Given the description of an element on the screen output the (x, y) to click on. 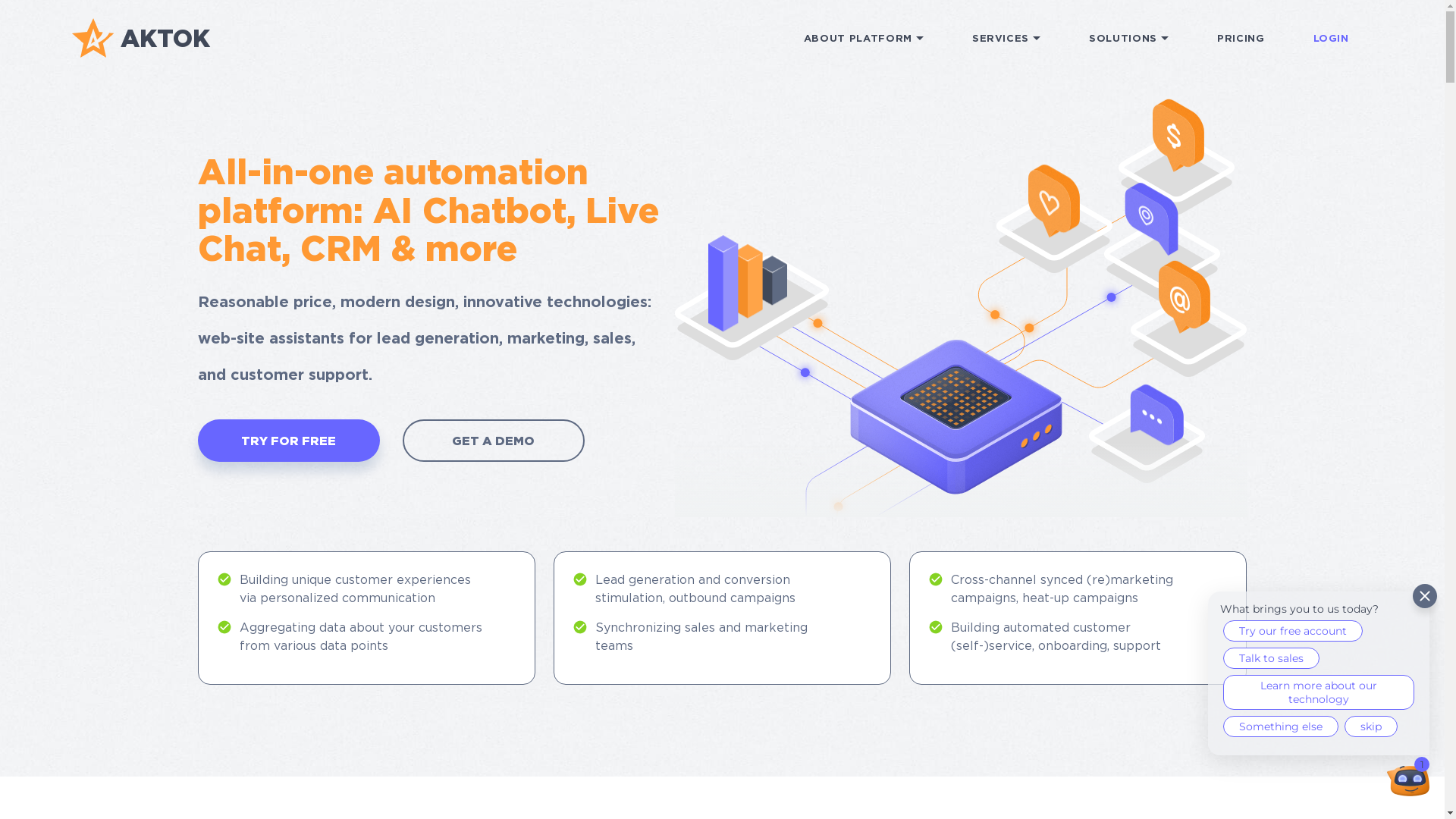
SERVICES Element type: text (1005, 38)
TRY FOR FREE Element type: text (288, 440)
Learn more about our technology Element type: text (1318, 691)
aktok.ca Element type: hover (1407, 780)
Try our free account Element type: text (1292, 630)
GET A DEMO Element type: text (492, 440)
PRICING Element type: text (1240, 38)
Something else Element type: text (1280, 726)
SOLUTIONS Element type: text (1128, 38)
ABOUT PLATFORM Element type: text (863, 38)
skip Element type: text (1370, 726)
LOGIN Element type: text (1330, 38)
AKTOK Element type: text (141, 37)
Talk to sales Element type: text (1271, 657)
